Given the description of an element on the screen output the (x, y) to click on. 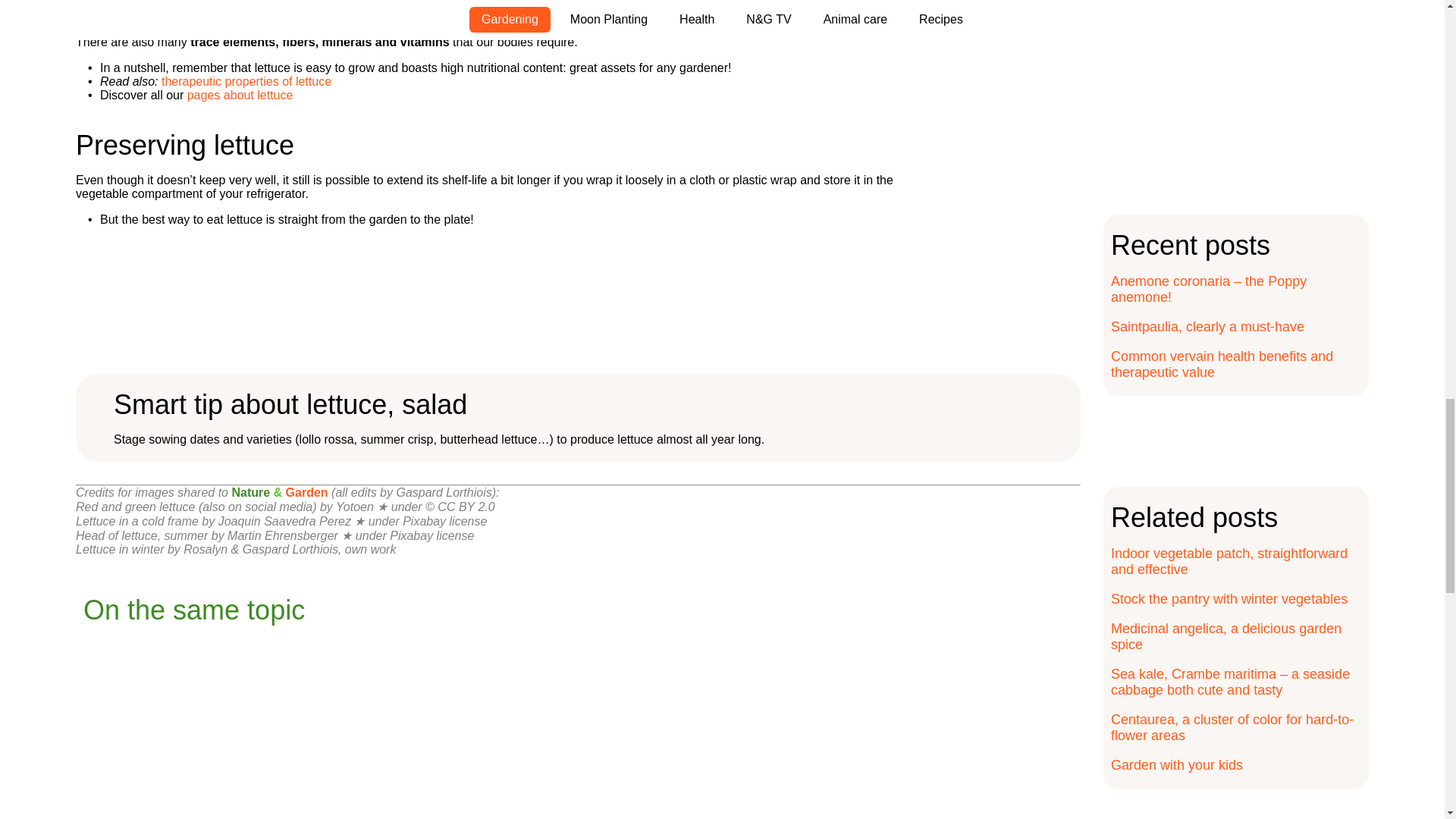
Different varieties of lettuce growing side by side (196, 506)
Get to know Joaquin Saavedra Perez (284, 521)
Get to know Martin Ehrensberger (282, 535)
Pixabay legal license (444, 521)
Round head of lettuce ready for harvest (141, 535)
Get to know Yotoen (355, 506)
The many health benefits of lettuce (246, 81)
Creative Commons Attribution 2.0 Generic legal license (460, 506)
Cold frame used to start sowing lettuce seedlings (136, 521)
